Given the description of an element on the screen output the (x, y) to click on. 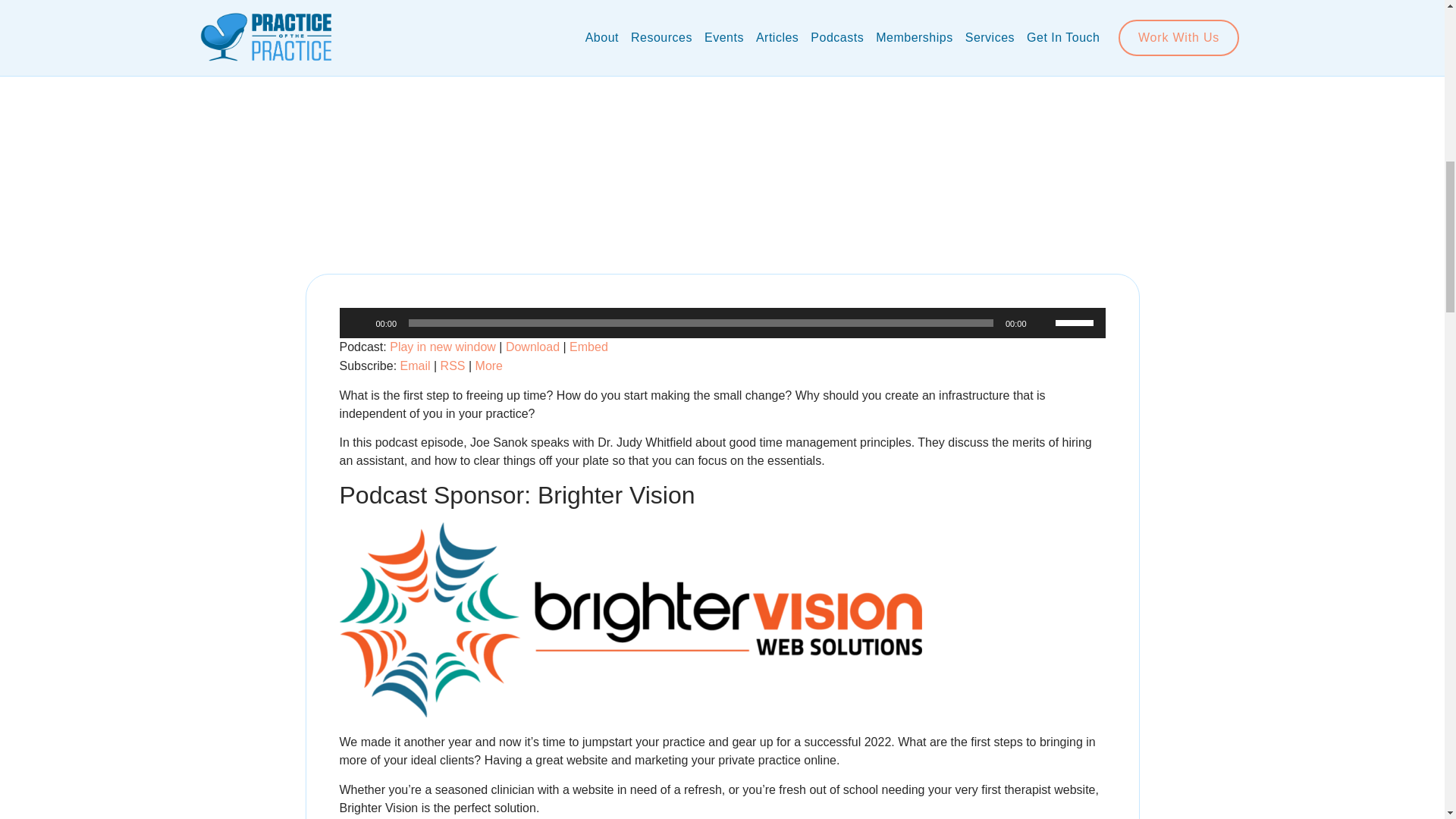
Play in new window (443, 346)
Mute (1043, 322)
More (489, 365)
Subscribe by Email (415, 365)
Embed (588, 346)
Subscribe via RSS (453, 365)
Download (532, 346)
Play (359, 322)
